Given the description of an element on the screen output the (x, y) to click on. 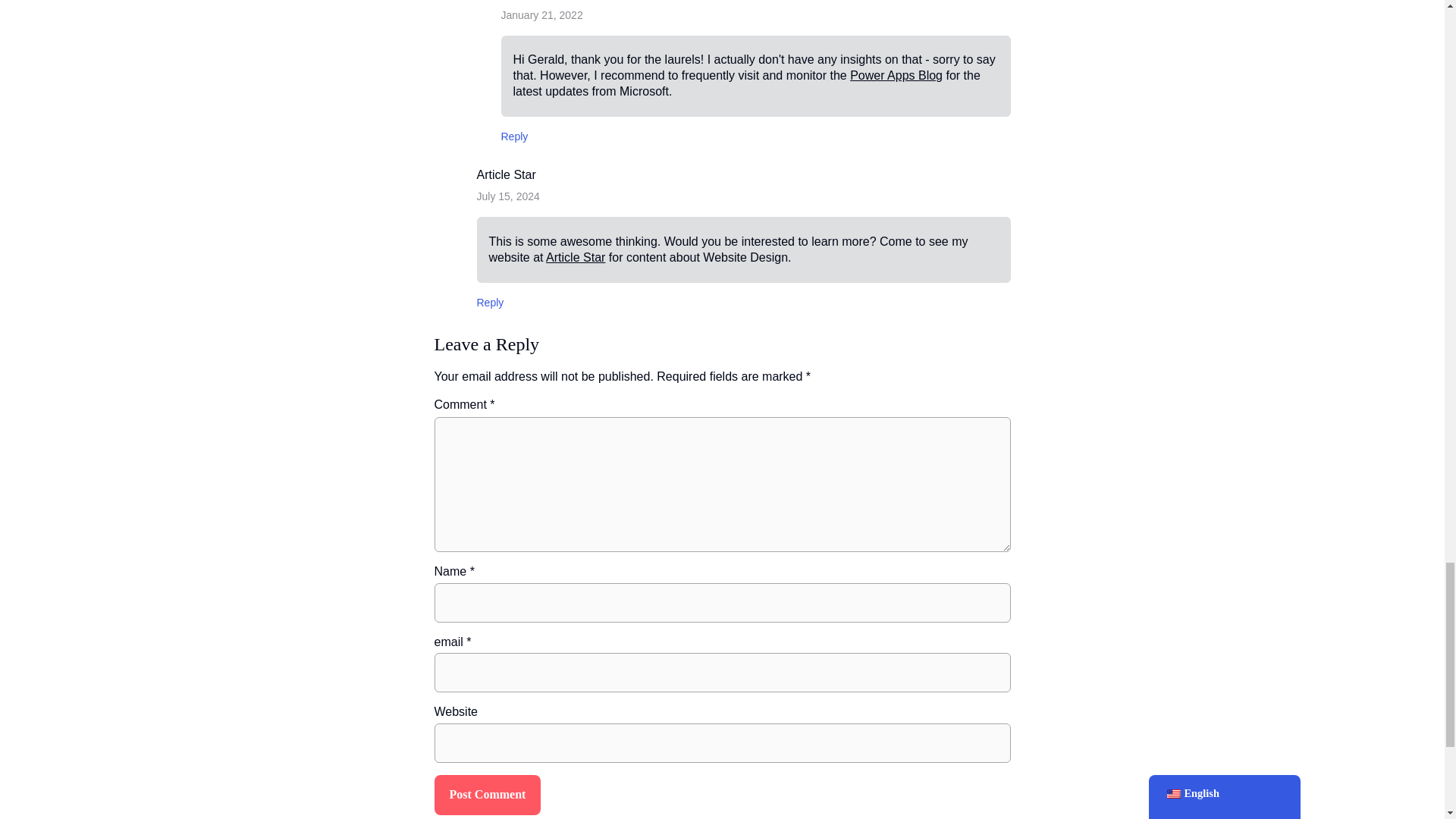
January 21, 2022 (541, 15)
Post Comment (486, 794)
